Given the description of an element on the screen output the (x, y) to click on. 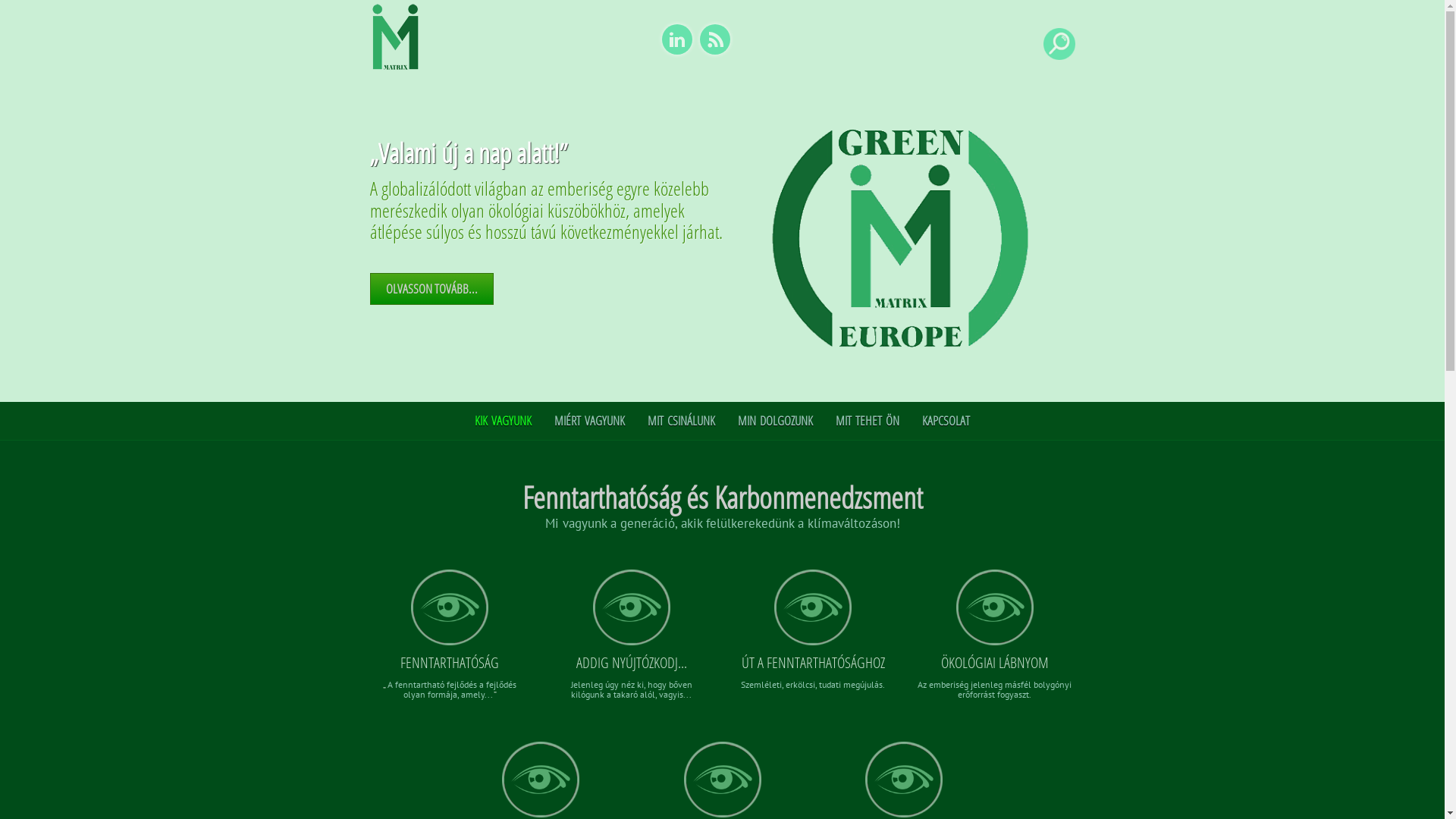
KAPCSOLAT Element type: text (945, 426)
Search Element type: text (29, 14)
MIN DOLGOZUNK Element type: text (775, 426)
KIK VAGYUNK Element type: text (502, 426)
